Given the description of an element on the screen output the (x, y) to click on. 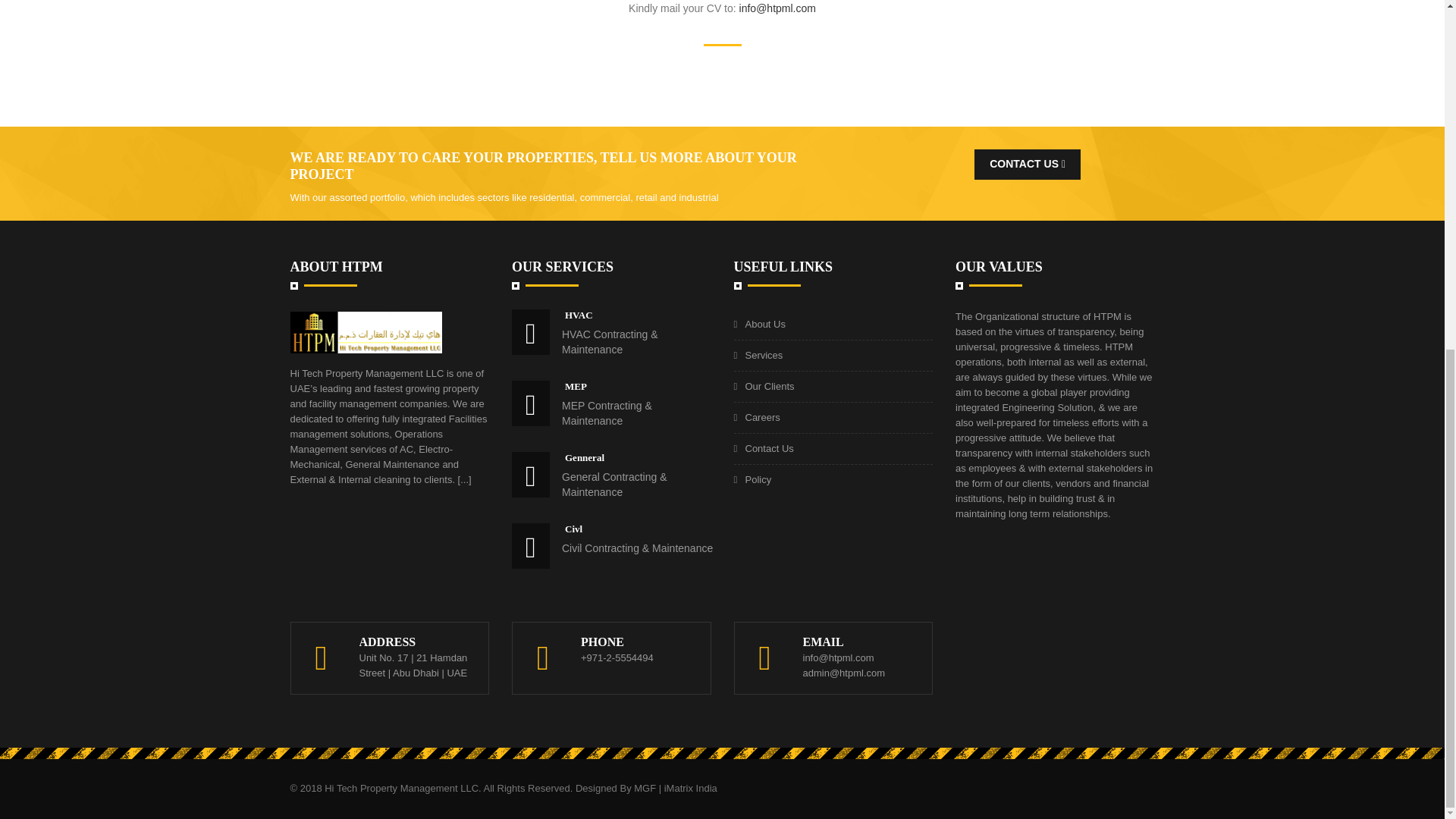
MEP (575, 386)
CONTACT US (1027, 164)
HVAC (578, 315)
Our Clients (768, 386)
Genneral (584, 457)
About Us (764, 324)
Services (763, 355)
Civl (573, 528)
